Given the description of an element on the screen output the (x, y) to click on. 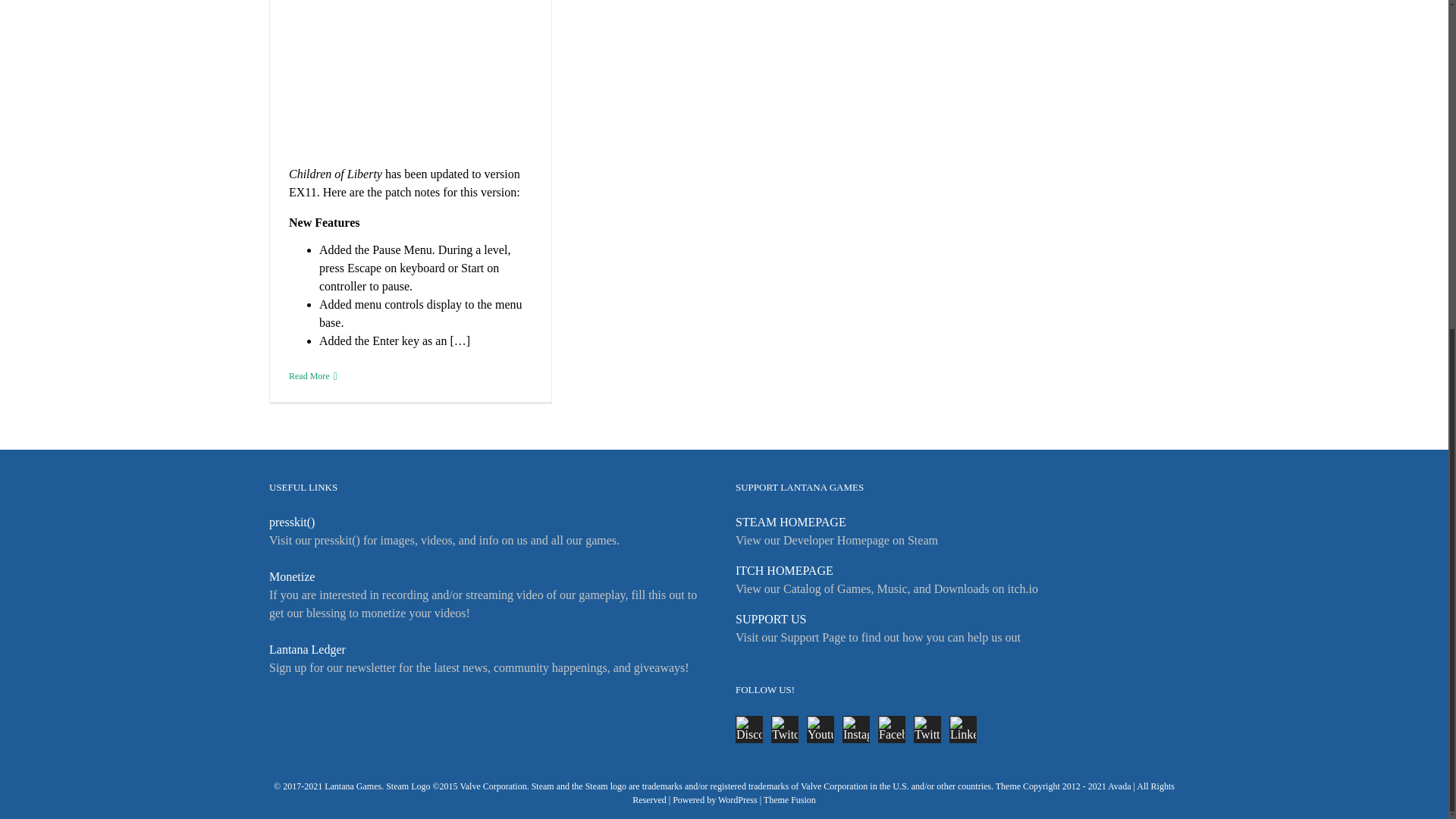
Monetize (291, 576)
Read More (309, 376)
STEAM HOMEPAGE (790, 521)
ITCH HOMEPAGE (783, 570)
WordPress (737, 799)
SUPPORT US (770, 618)
Lantana Ledger (307, 649)
